Given the description of an element on the screen output the (x, y) to click on. 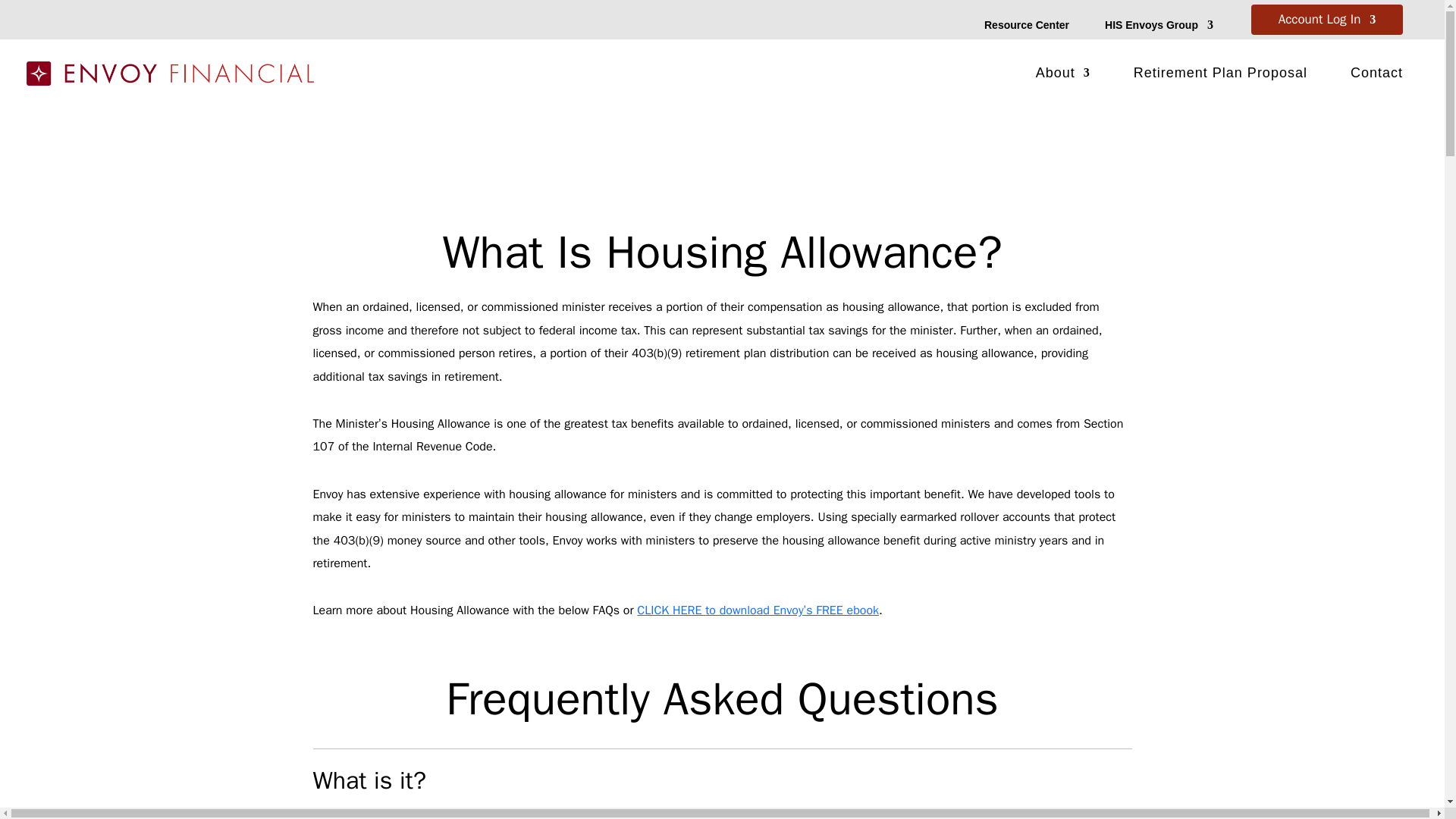
HIS Envoys Group (1158, 27)
About (1062, 75)
Retirement Plan Proposal (1220, 75)
Resource Center (1026, 27)
Account Log In (1326, 22)
Contact (1377, 75)
